Given the description of an element on the screen output the (x, y) to click on. 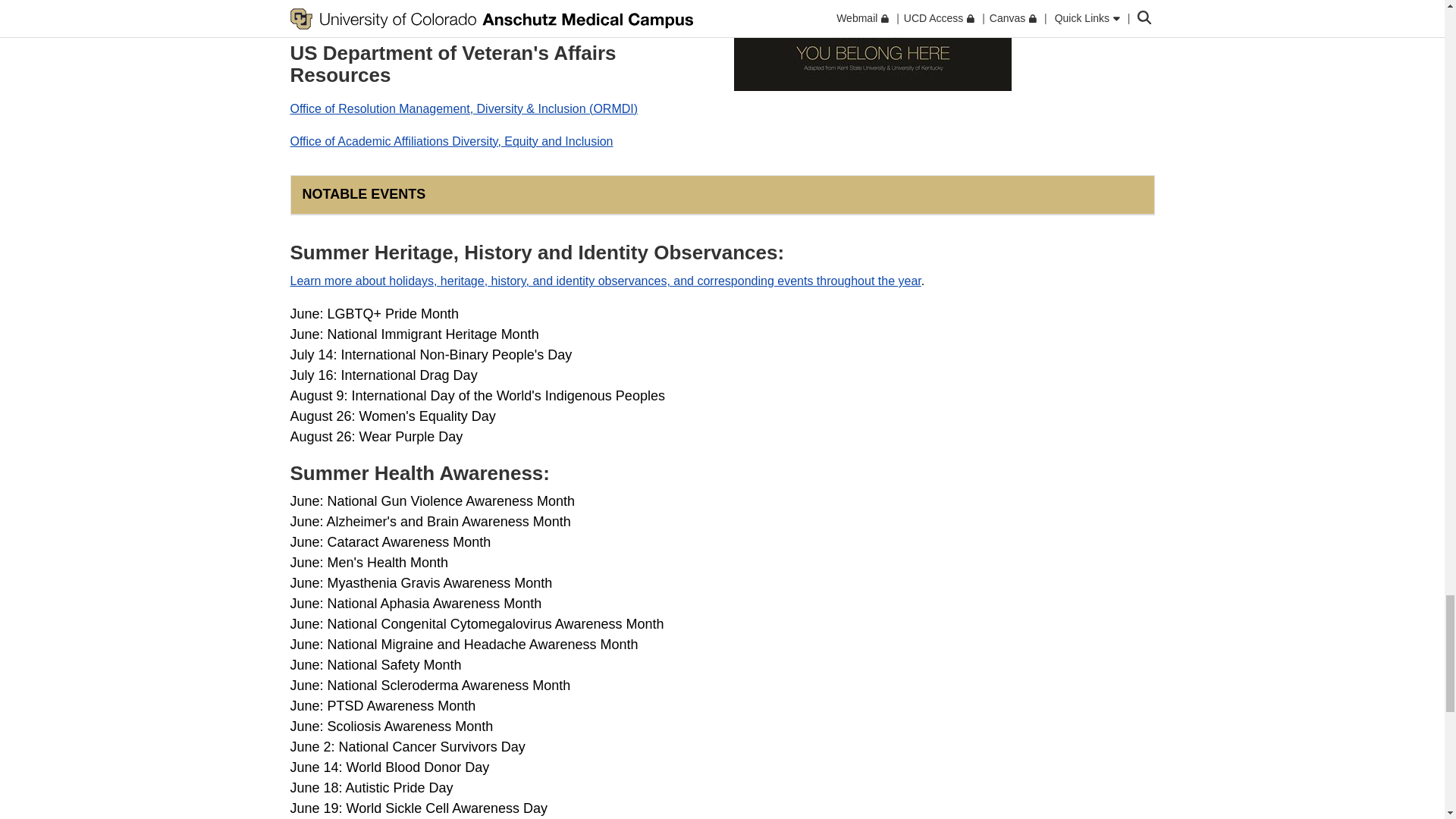
Diversity Matters (872, 45)
